Given the description of an element on the screen output the (x, y) to click on. 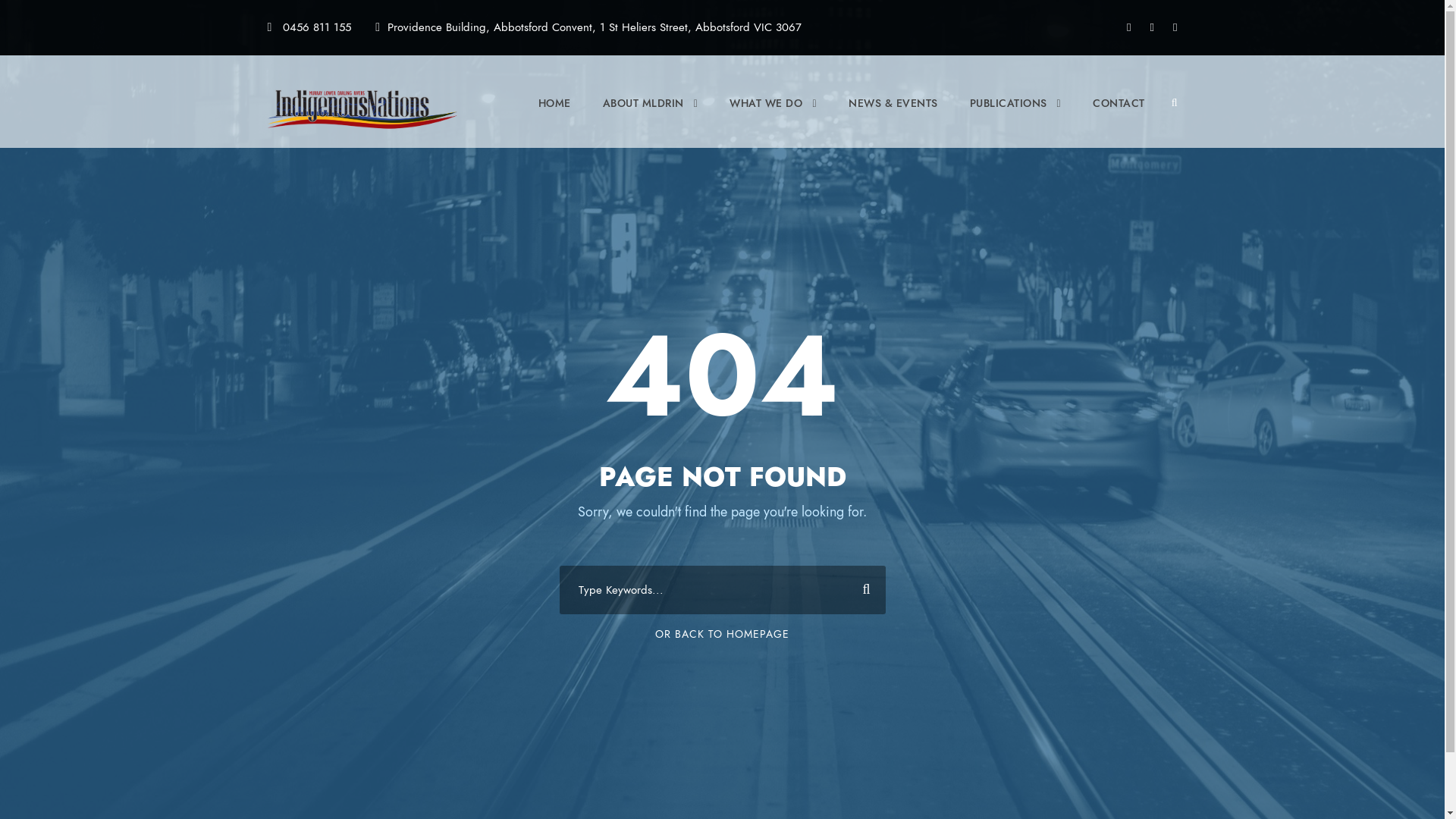
facebook Element type: hover (1128, 26)
NEWS & EVENTS Element type: text (893, 117)
OR BACK TO HOMEPAGE Element type: text (722, 633)
PUBLICATIONS Element type: text (1015, 117)
HOME Element type: text (554, 117)
ABOUT MLDRIN Element type: text (650, 117)
Search Element type: text (860, 589)
WHAT WE DO Element type: text (772, 117)
CONTACT Element type: text (1118, 117)
twitter Element type: hover (1152, 26)
instagram Element type: hover (1174, 26)
